Given the description of an element on the screen output the (x, y) to click on. 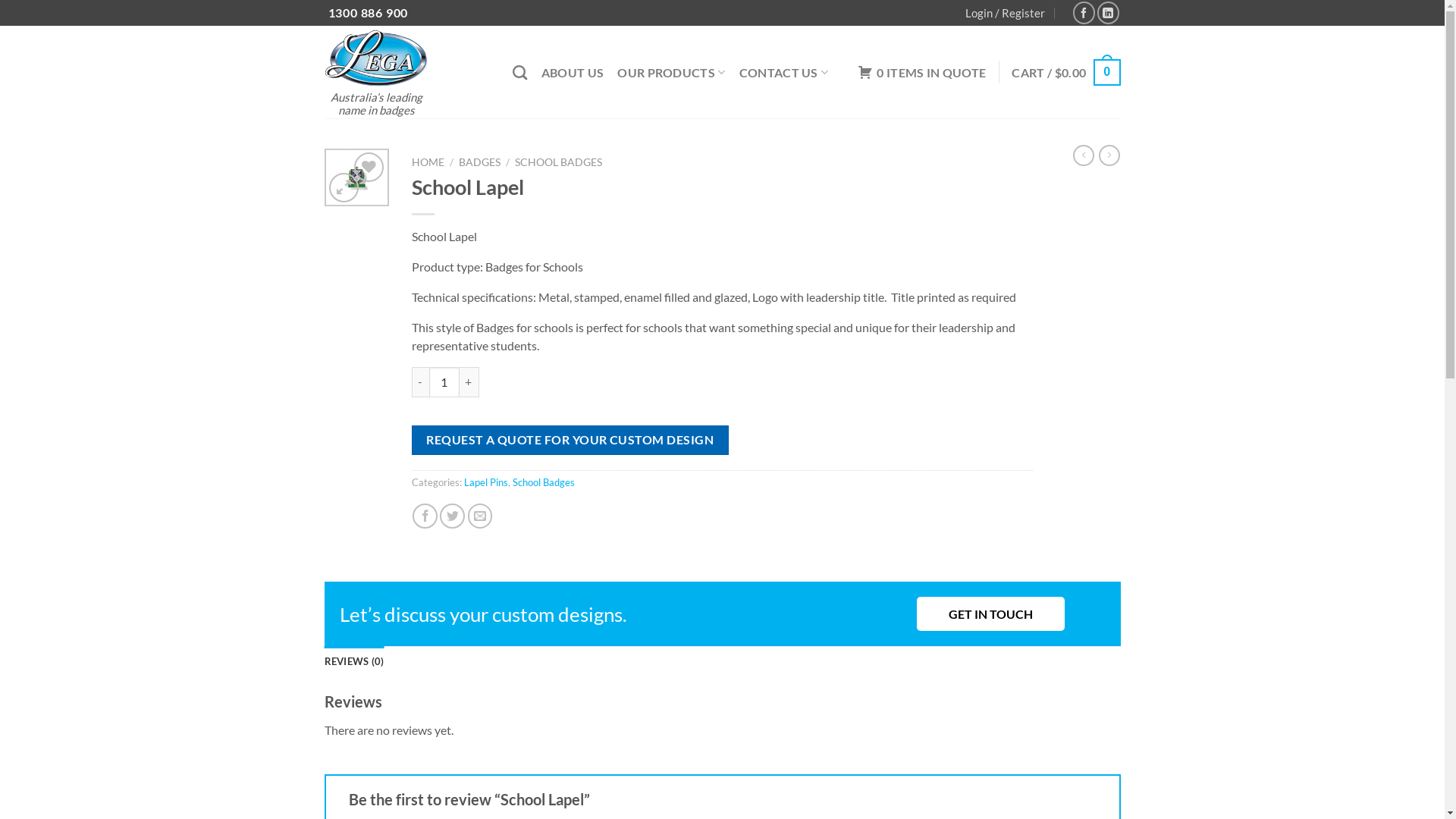
CONTACT US Element type: text (783, 72)
Qty Element type: hover (444, 382)
BADGES Element type: text (479, 162)
ABOUT US Element type: text (572, 72)
Badge with crest1 Element type: hover (356, 177)
Lapel Pins Element type: text (486, 482)
Login / Register Element type: text (1004, 12)
HOME Element type: text (427, 162)
CART / $0.00
0 Element type: text (1065, 72)
1300 886 900 Element type: text (367, 12)
0 ITEMS IN QUOTE Element type: text (921, 71)
SCHOOL BADGES Element type: text (558, 162)
GET IN TOUCH Element type: text (989, 613)
School Badges Element type: text (543, 482)
REQUEST A QUOTE FOR YOUR CUSTOM DESIGN Element type: text (569, 440)
REVIEWS (0) Element type: text (354, 661)
OUR PRODUCTS Element type: text (670, 72)
